Given the description of an element on the screen output the (x, y) to click on. 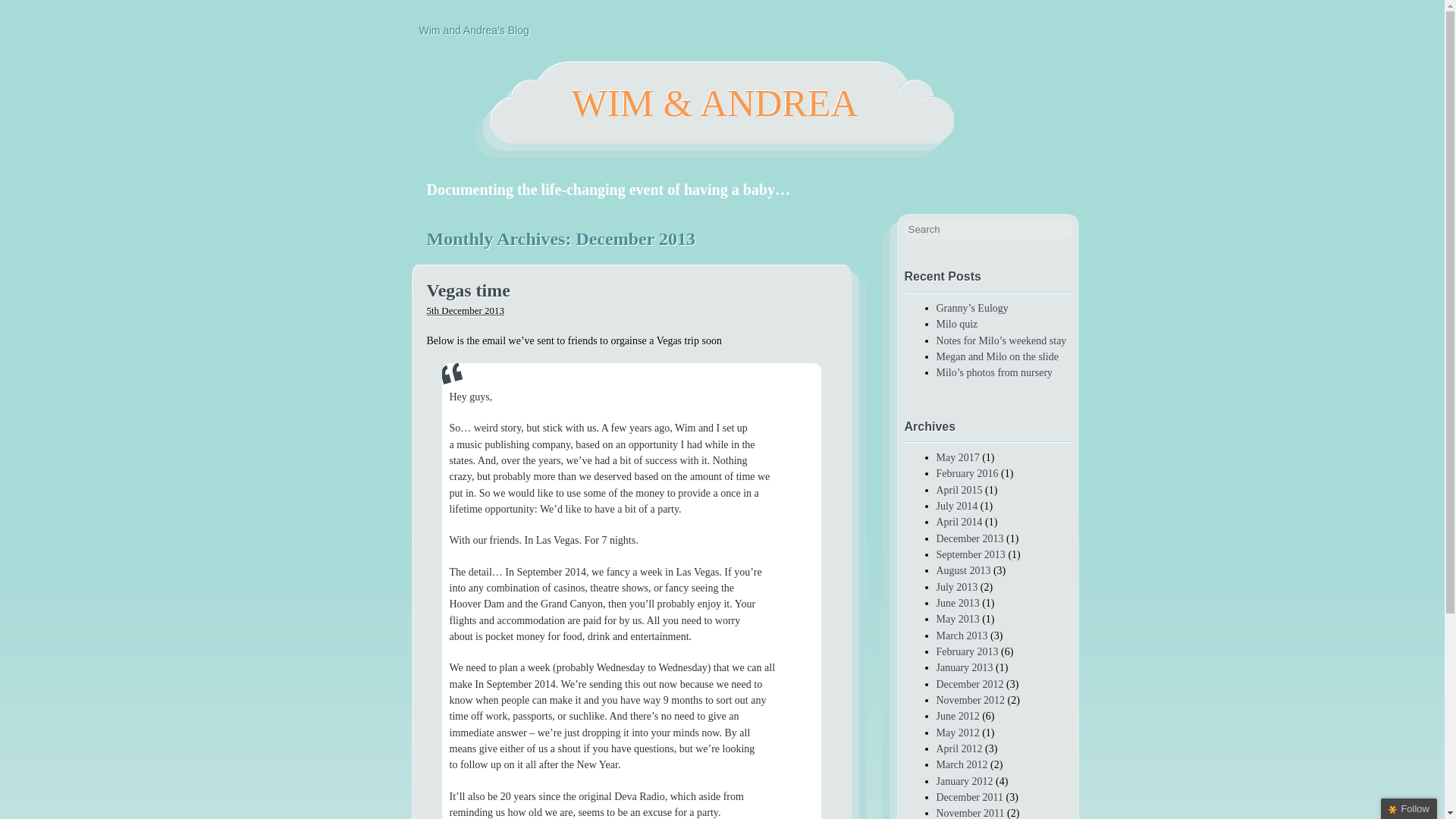
November 2011 (970, 813)
July 2014 (956, 505)
March 2012 (961, 764)
July 2013 (956, 586)
June 2013 (957, 603)
Vegas time (630, 290)
November 2012 (970, 699)
September 2013 (970, 554)
August 2013 (963, 570)
June 2012 (957, 715)
